Given the description of an element on the screen output the (x, y) to click on. 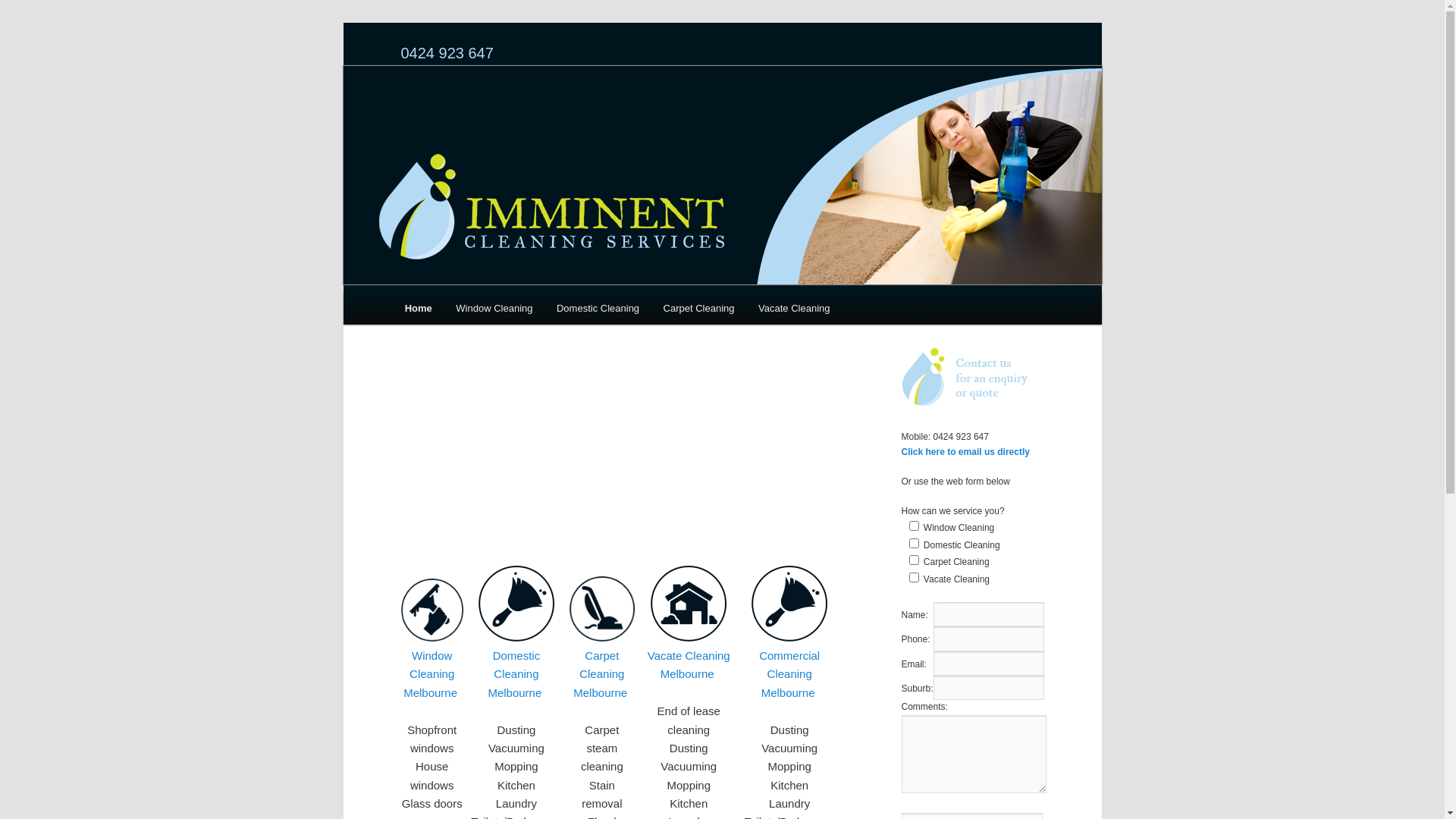
Vacate Cleaning Element type: text (688, 655)
Domestic Cleaning Element type: text (516, 664)
Melbourne Element type: text (600, 692)
Carpet Cleaning Element type: text (698, 307)
Commercial Cleaning Element type: hover (789, 636)
Vacate/End of Lease Cleaning Element type: hover (688, 636)
Window Cleaning Element type: text (494, 307)
Melbourne Element type: text (430, 692)
Melbourne Element type: text (514, 692)
Window Cleaning Element type: hover (431, 636)
Click here to email us directly Element type: text (964, 451)
Melbourne Element type: text (788, 692)
Carpet Cleaning Element type: text (601, 664)
Home Element type: text (418, 307)
Vacate Cleaning Element type: text (793, 307)
Commercial Cleaning Element type: text (789, 664)
Domestic Cleaning Element type: hover (516, 636)
Skip to secondary content Element type: text (479, 310)
Skip to primary content Element type: text (472, 310)
Melbourne Element type: text (687, 673)
Window Cleaning Element type: text (431, 664)
Carpet Cleaning Element type: hover (601, 636)
Domestic Cleaning Element type: text (597, 307)
